Given the description of an element on the screen output the (x, y) to click on. 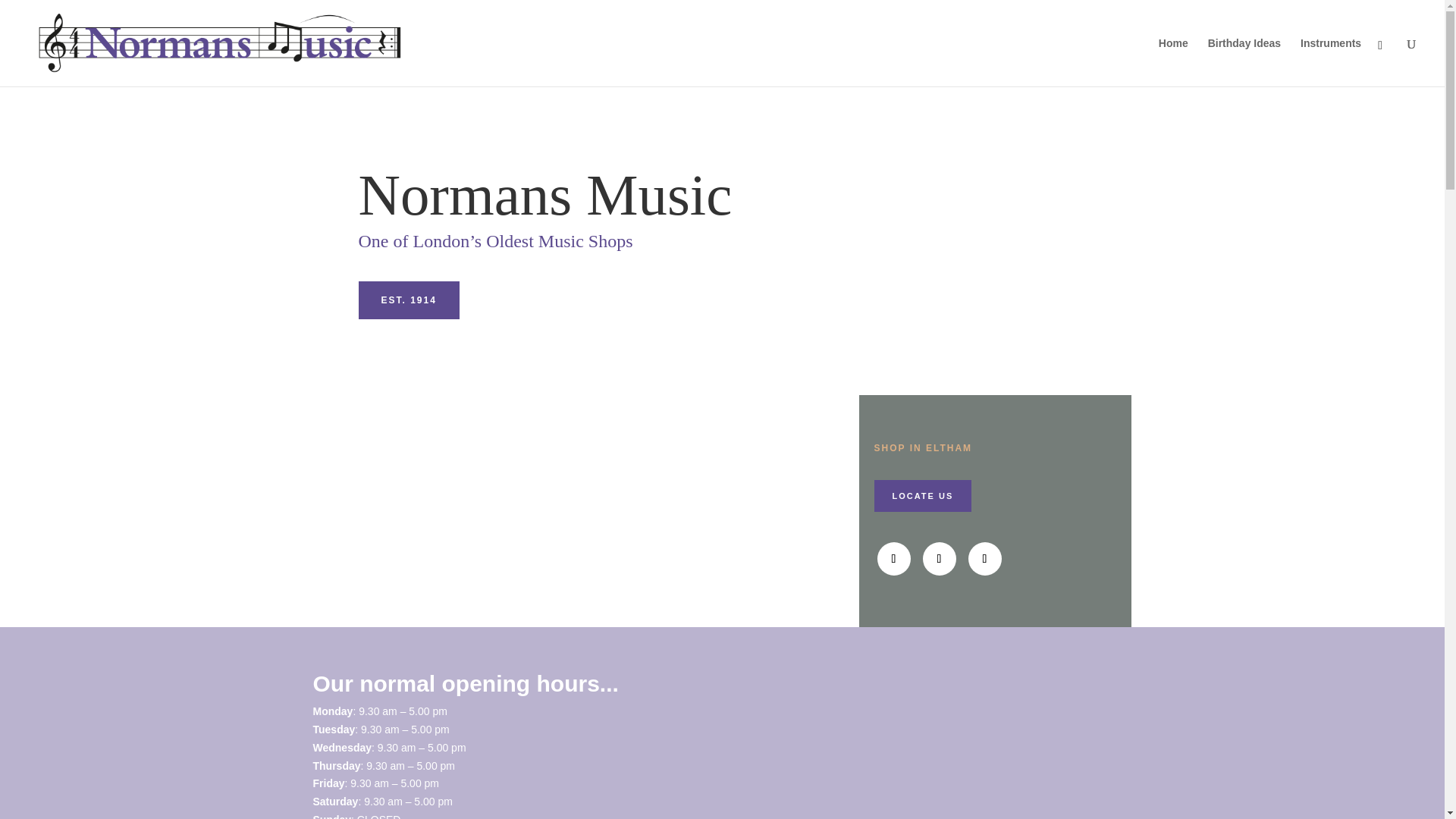
EST. 1914 (408, 300)
Follow on X (938, 558)
Birthday Ideas (1244, 61)
LOCATE US (922, 495)
Instruments (1330, 61)
Follow on Instagram (984, 558)
Follow on Facebook (893, 558)
